Given the description of an element on the screen output the (x, y) to click on. 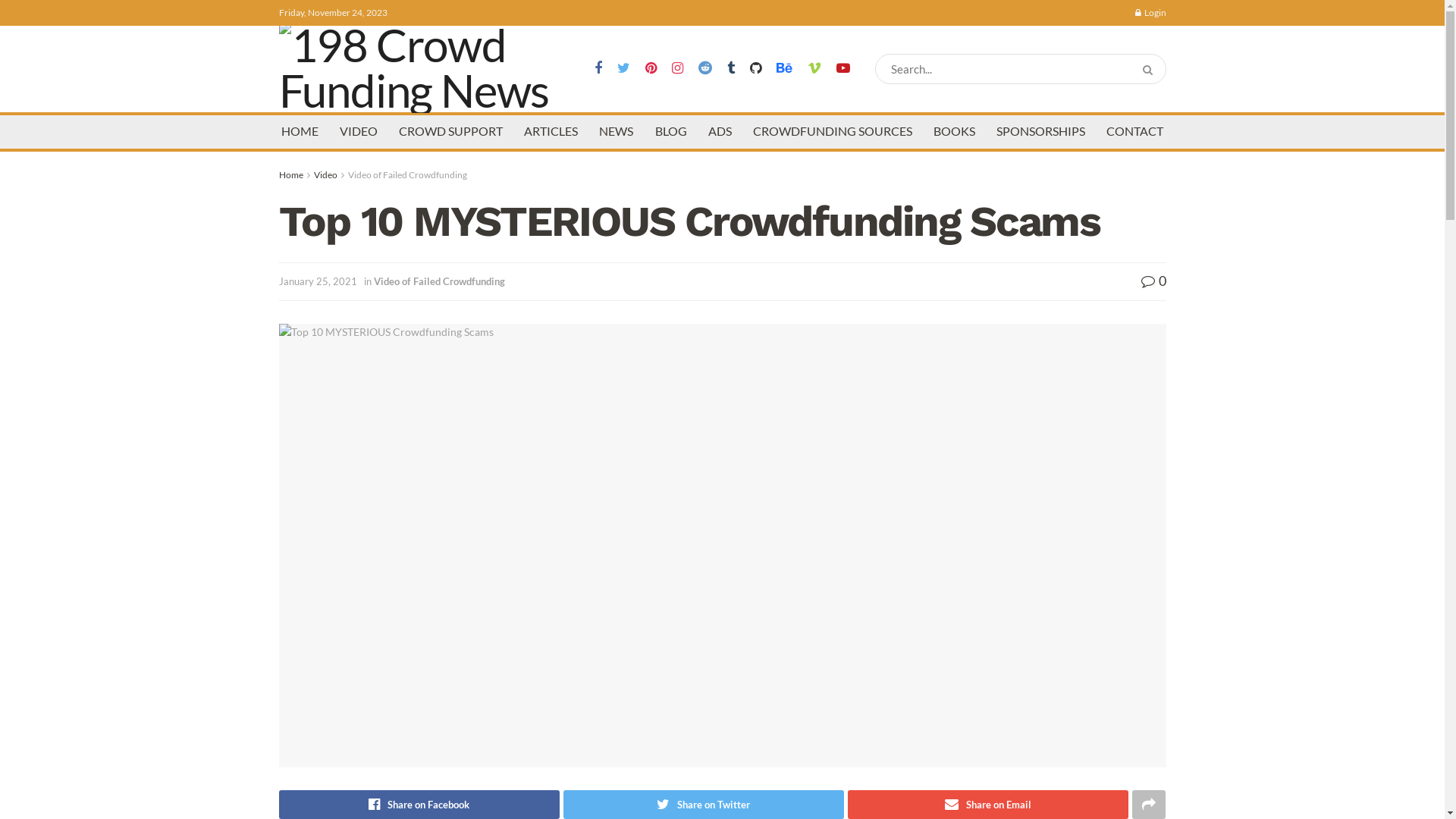
CROWD SUPPORT Element type: text (450, 130)
BOOKS Element type: text (954, 130)
0 Element type: text (1152, 280)
Home Element type: text (291, 174)
SPONSORSHIPS Element type: text (1040, 130)
Video Element type: text (325, 174)
Video of Failed Crowdfunding Element type: text (406, 174)
VIDEO Element type: text (358, 130)
BLOG Element type: text (671, 130)
January 25, 2021 Element type: text (318, 281)
CROWDFUNDING SOURCES Element type: text (832, 130)
NEWS Element type: text (616, 130)
HOME Element type: text (299, 130)
CONTACT Element type: text (1134, 130)
ADS Element type: text (719, 130)
Login Element type: text (1149, 12)
ARTICLES Element type: text (550, 130)
Video of Failed Crowdfunding Element type: text (438, 281)
